Given the description of an element on the screen output the (x, y) to click on. 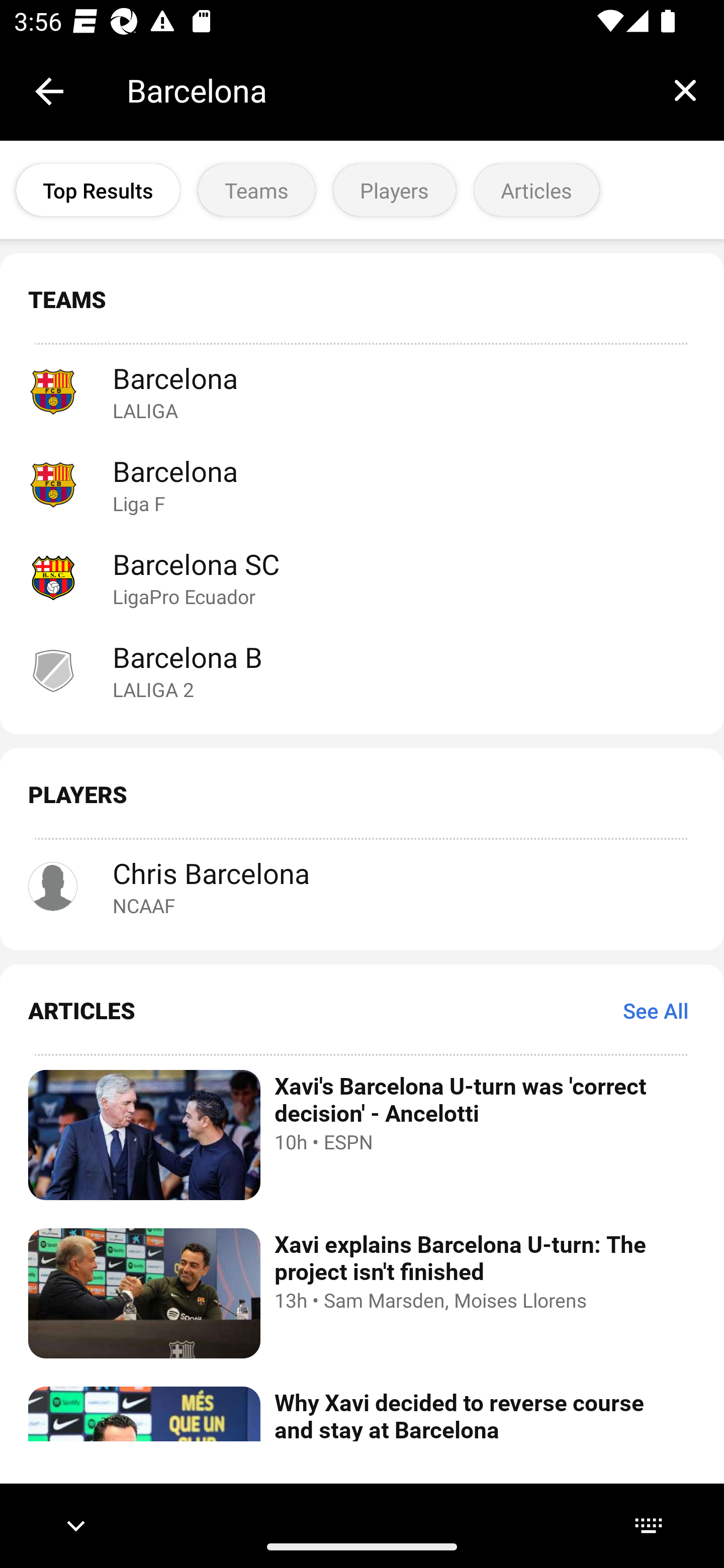
Collapse (49, 91)
Clear query (685, 89)
Barcelona (386, 90)
Top Results (97, 190)
Teams (256, 190)
Players (394, 190)
Articles (536, 190)
Barcelona : LALIGA Barcelona LALIGA (362, 390)
Barcelona : Liga F Barcelona Liga F (362, 483)
Barcelona B : LALIGA 2 Barcelona B LALIGA 2 (362, 670)
Chris Barcelona : NCAAF Chris Barcelona NCAAF (362, 886)
See All (655, 1010)
